Given the description of an element on the screen output the (x, y) to click on. 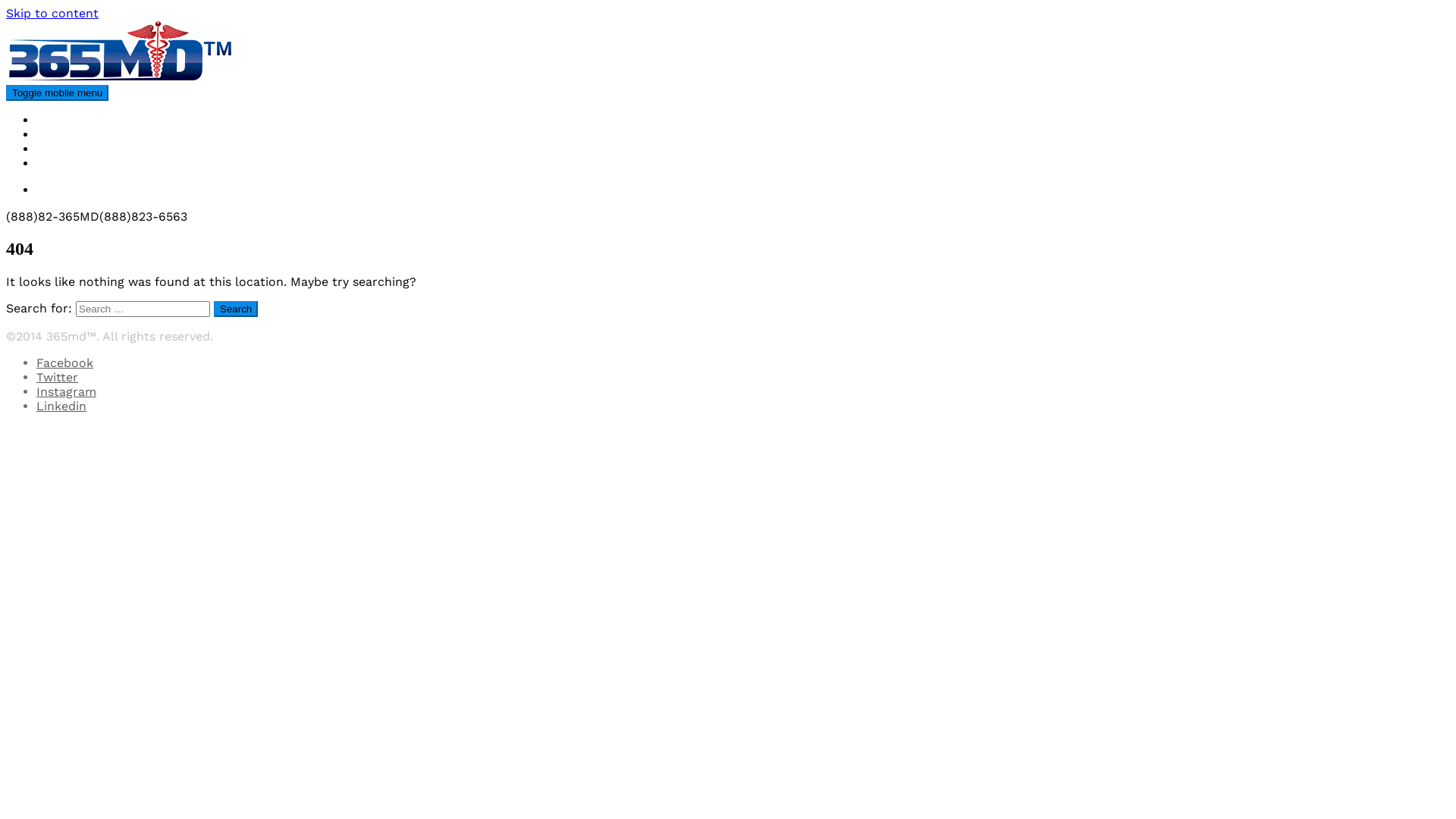
Skip to content Element type: text (52, 13)
Home Element type: text (53, 119)
Search Element type: text (235, 308)
Toggle mobile menu Element type: text (57, 92)
Contact Us Element type: text (69, 163)
What is Telemedicine Element type: text (98, 148)
Linkedin Element type: text (61, 405)
Facebook Element type: text (64, 362)
Instagram Element type: text (66, 391)
Twitter Element type: text (57, 377)
How It Works Element type: text (76, 134)
